Given the description of an element on the screen output the (x, y) to click on. 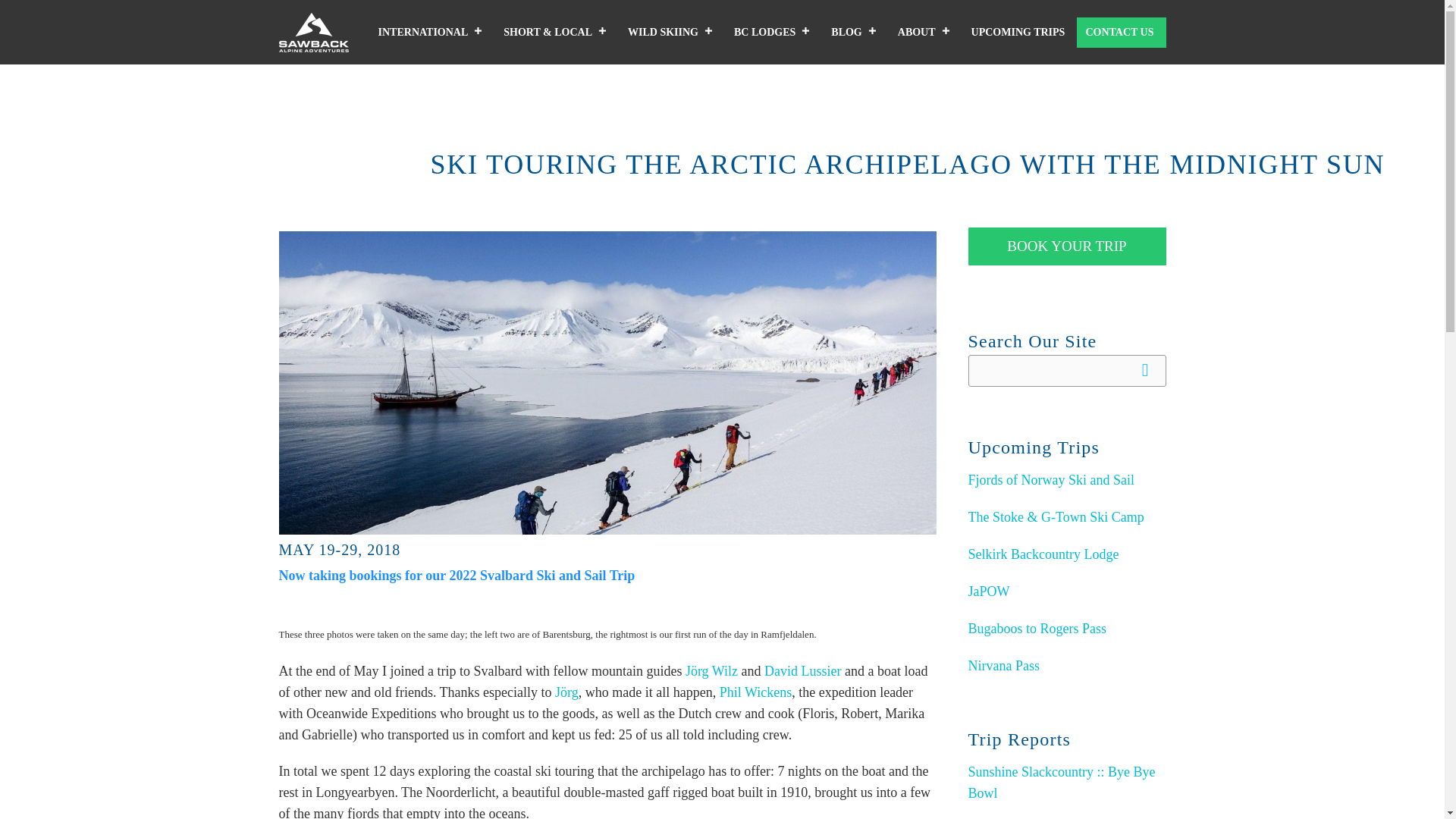
WILD SKIING (672, 32)
BLOG (855, 32)
ABOUT (925, 32)
INTERNATIONAL (432, 32)
BC LODGES (773, 32)
Book your trip (1067, 246)
